Given the description of an element on the screen output the (x, y) to click on. 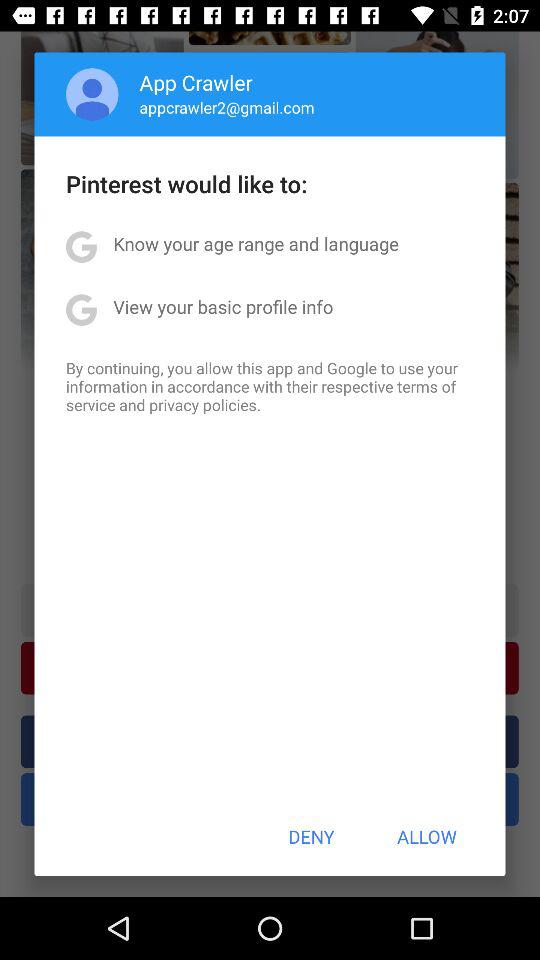
launch the know your age app (255, 243)
